Given the description of an element on the screen output the (x, y) to click on. 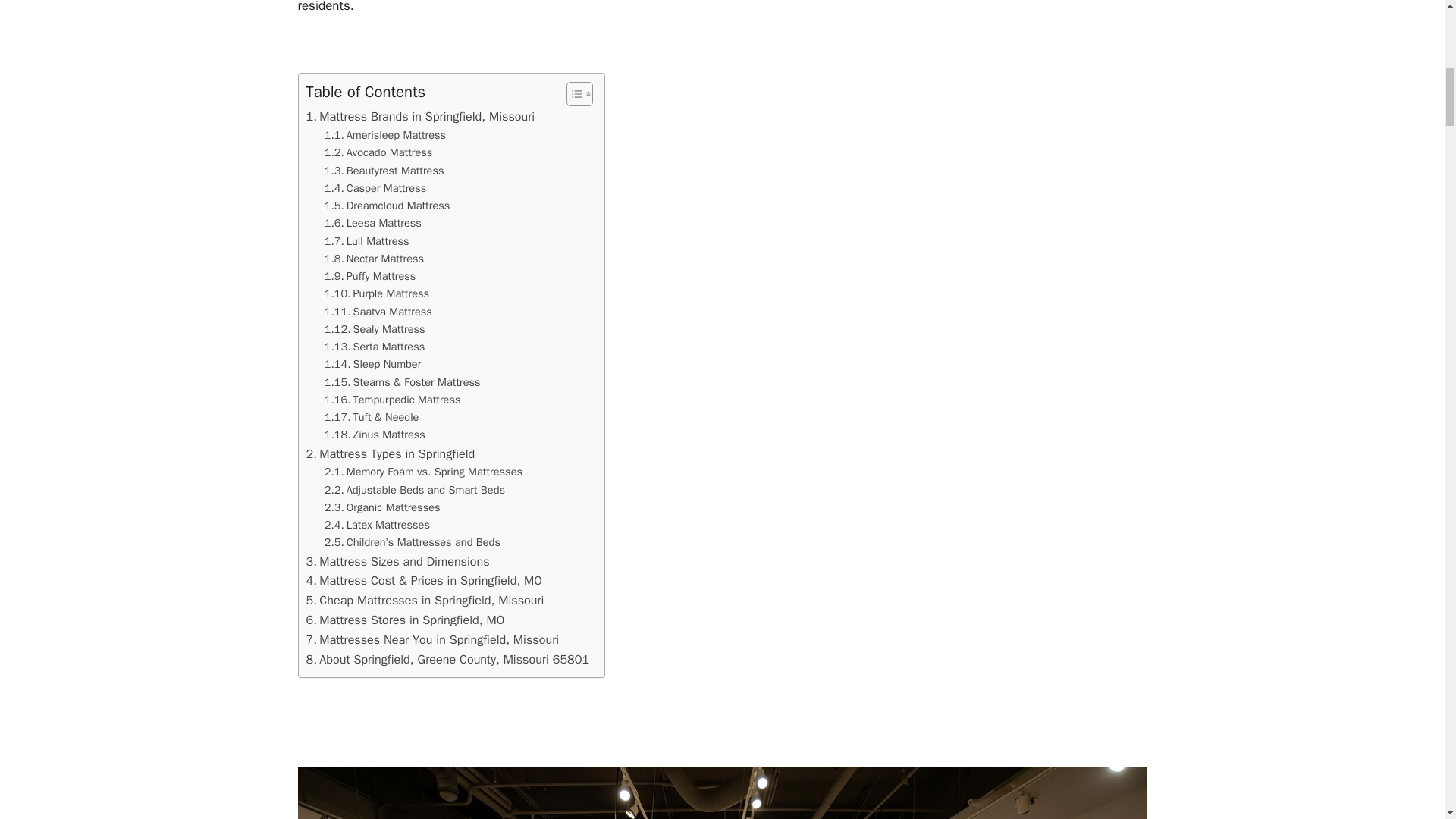
Lull Mattress (366, 241)
Amerisleep Mattress (384, 135)
Purple Mattress (376, 293)
Dreamcloud Mattress (386, 205)
Leesa Mattress (373, 222)
Casper Mattress (375, 188)
Mattress Brands in Springfield, Missouri (420, 116)
Avocado Mattress (378, 152)
Saatva Mattress (378, 312)
Beautyrest Mattress (384, 170)
Nectar Mattress (373, 258)
Puffy Mattress (370, 276)
